Given the description of an element on the screen output the (x, y) to click on. 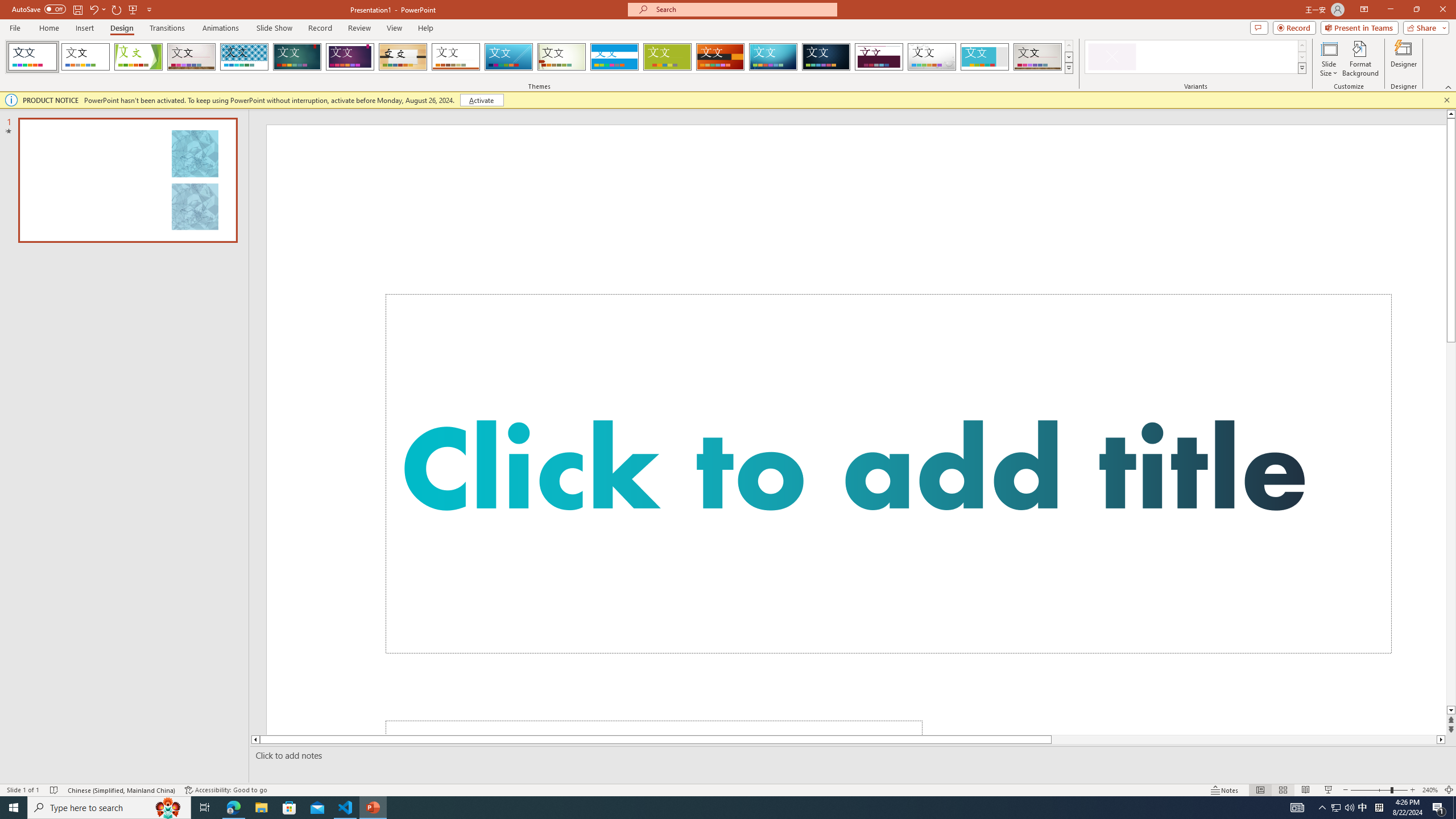
Minimize (1390, 9)
Slice (508, 56)
Retrospect (455, 56)
Dividend (879, 56)
Class: NetUIImage (1302, 68)
Record (320, 28)
System (6, 6)
Save (77, 9)
AutomationID: ThemeVariantsGallery (1195, 56)
Zoom (1379, 790)
Close (1442, 9)
Activate (481, 100)
Facet (138, 56)
Design (122, 28)
Home (48, 28)
